Given the description of an element on the screen output the (x, y) to click on. 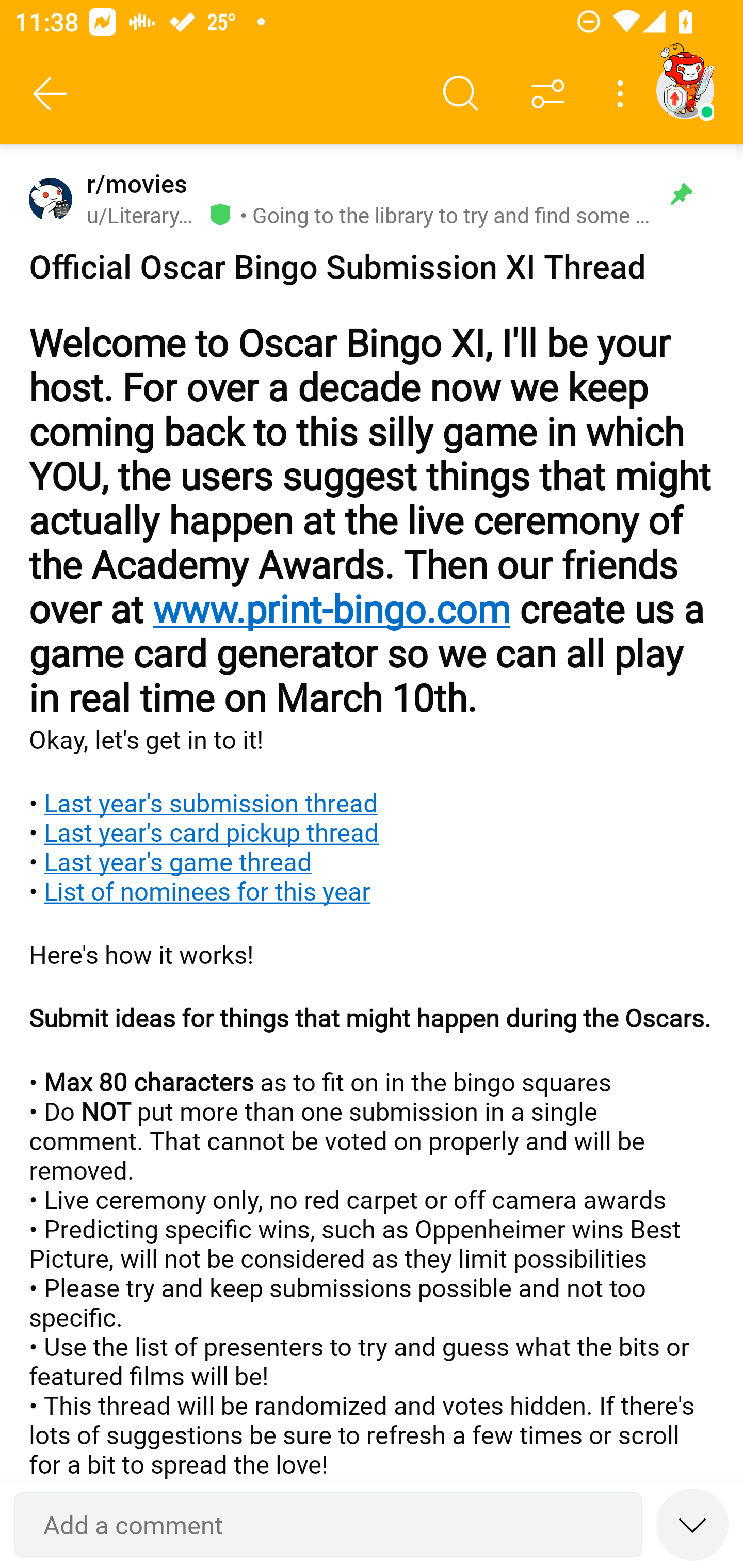
Back (50, 93)
TestAppium002 account (685, 90)
Search comments (460, 93)
Sort comments (547, 93)
More options (623, 93)
r/movies (133, 183)
Avatar (50, 199)
Pinned (681, 194)
Speed read (692, 1524)
Add a comment (327, 1524)
